Given the description of an element on the screen output the (x, y) to click on. 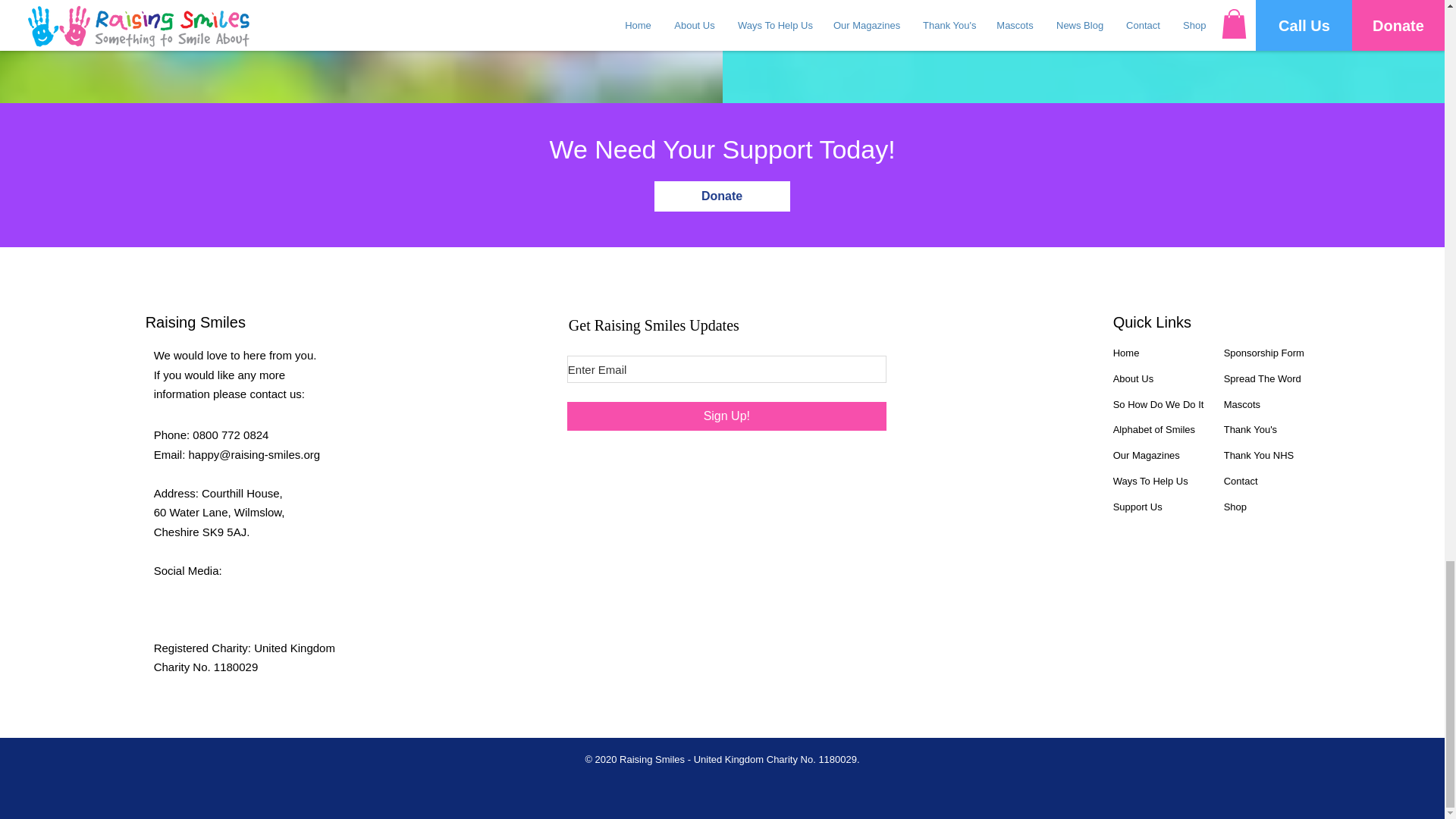
Thank You's (1250, 429)
So How Do We Do It (1158, 404)
Support Us (1137, 506)
Ways To Help Us (1150, 480)
Spread The Word (1262, 378)
Donate (721, 195)
About Us (1133, 378)
Alphabet of Smiles (1154, 429)
Thank You NHS (1259, 455)
Contact (1240, 480)
Our Magazines (1146, 455)
Sign Up! (726, 416)
Sponsorship Form (1264, 352)
Home (1126, 352)
Shop (1235, 506)
